Given the description of an element on the screen output the (x, y) to click on. 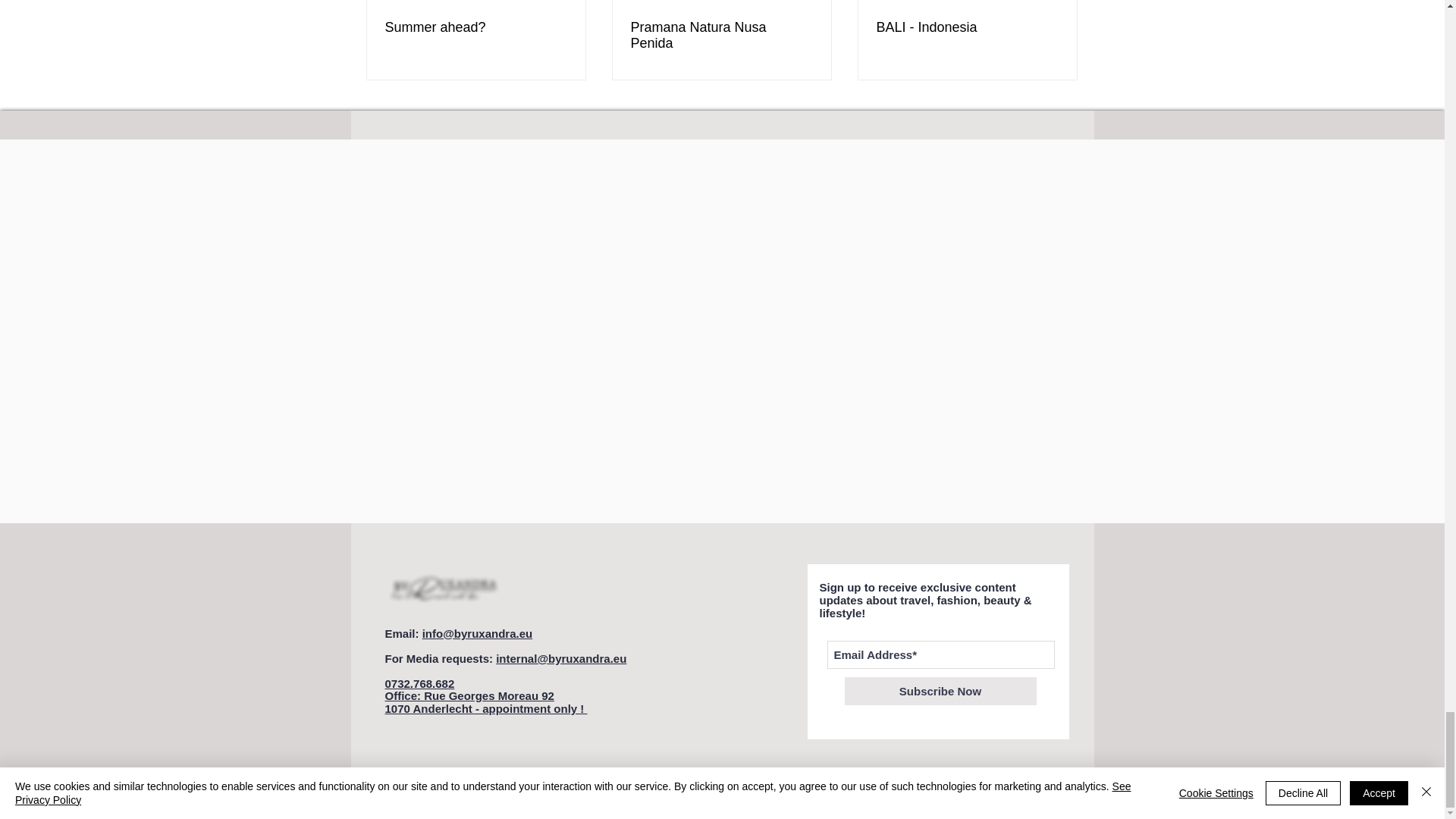
Limino (834, 788)
Subscribe Now (940, 691)
Pramana Natura Nusa Penida (721, 35)
Privacy Polycy (1013, 790)
Summer ahead? (476, 27)
Do Not Sell My Personal Information (406, 787)
BALI - Indonesia (967, 27)
